Given the description of an element on the screen output the (x, y) to click on. 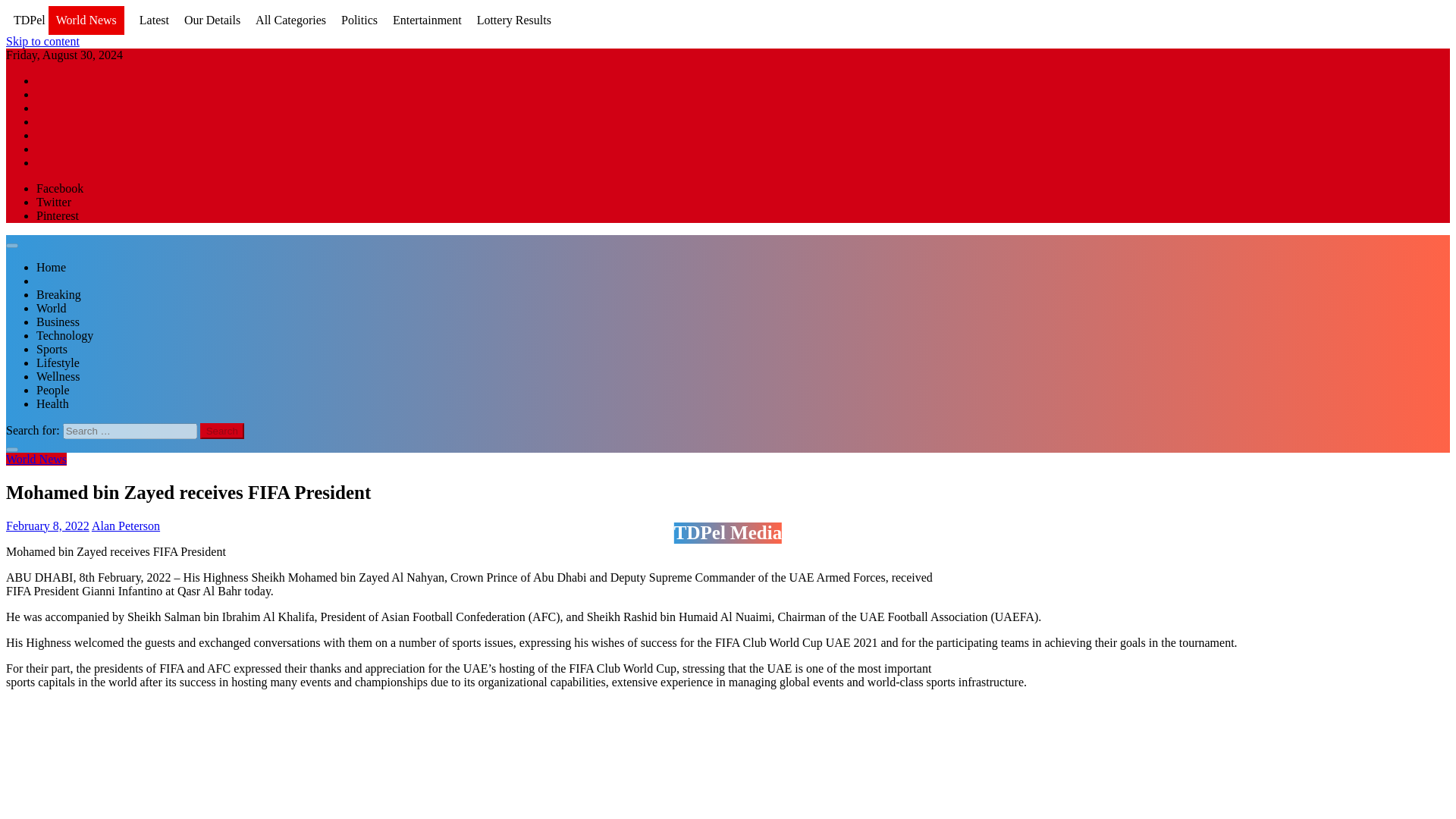
Business (58, 321)
Skip to content (42, 41)
Health (52, 403)
Lifestyle (58, 362)
Search (222, 430)
Breaking (58, 294)
Search (222, 430)
Alan Peterson (125, 524)
Sports (51, 349)
Facebook (59, 187)
